Given the description of an element on the screen output the (x, y) to click on. 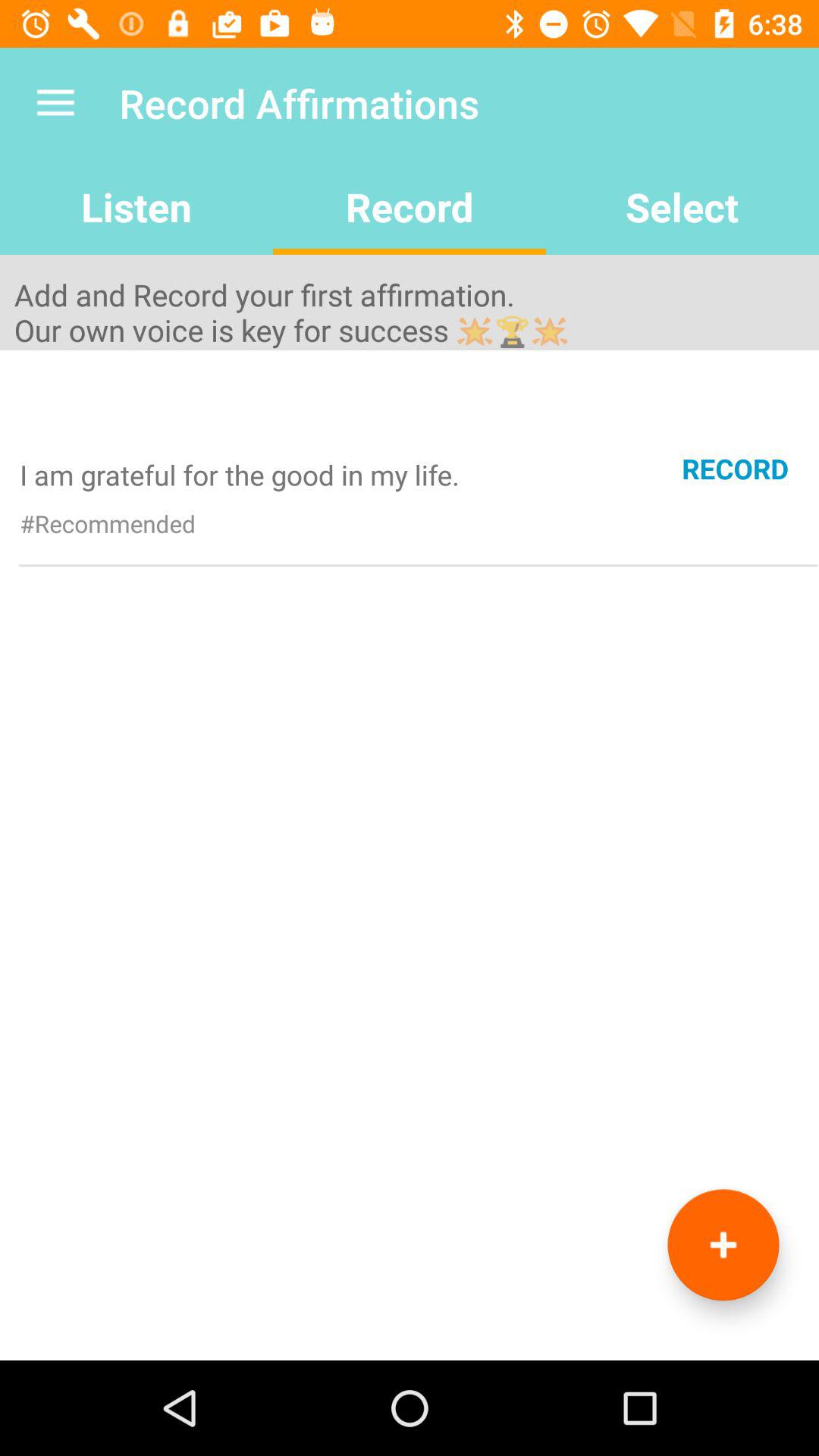
add affirmation (723, 1244)
